Given the description of an element on the screen output the (x, y) to click on. 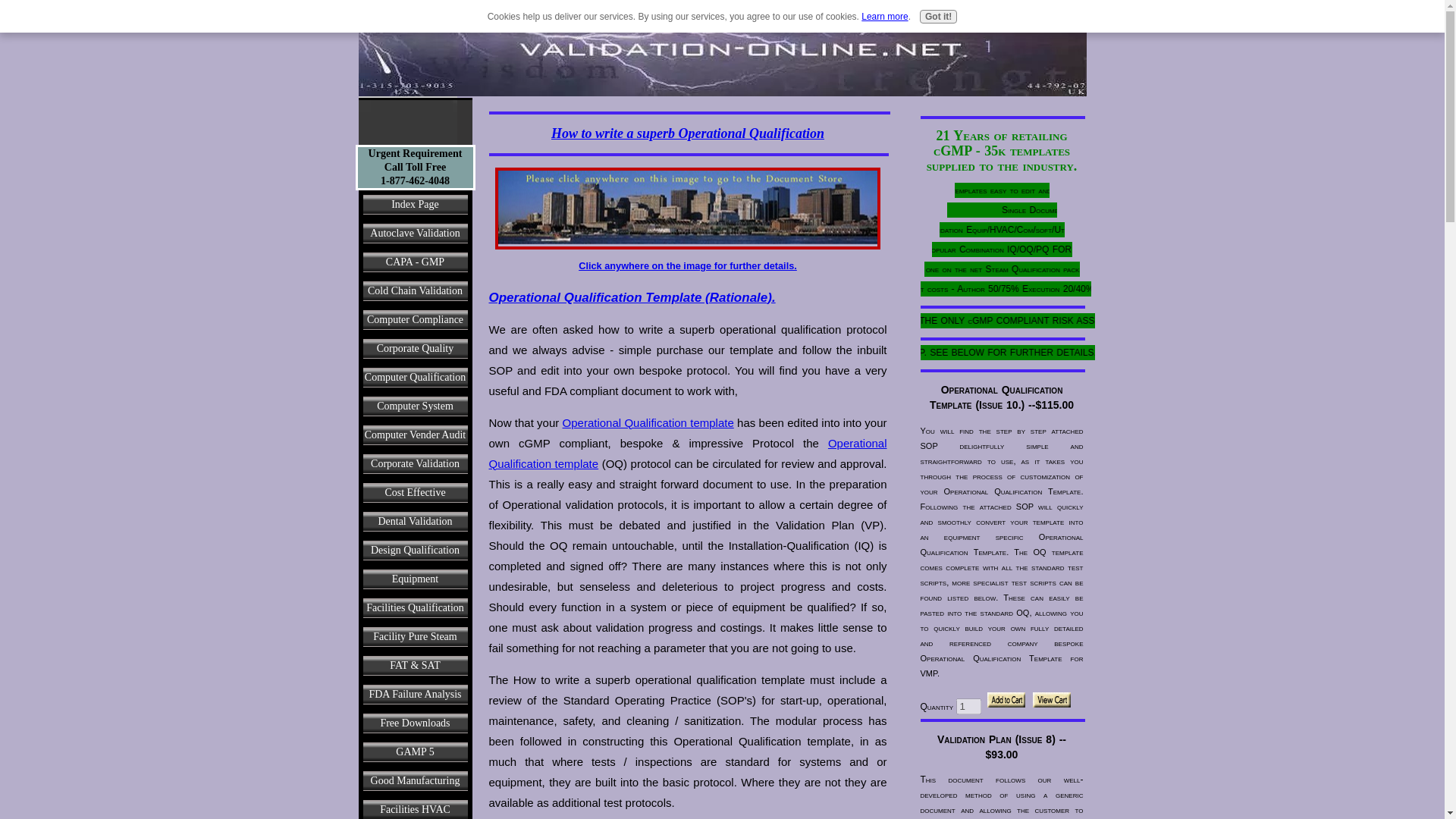
Design Qualification (414, 550)
Computer System Validation (414, 406)
Corporate Quality Manual (414, 348)
Dental Validation (414, 521)
GAMP 5 (414, 751)
Computer Compliance annex 11 (414, 319)
1 (968, 706)
Autoclave Validation (414, 233)
Free Downloads (414, 723)
Facility Pure Steam (414, 636)
